Given the description of an element on the screen output the (x, y) to click on. 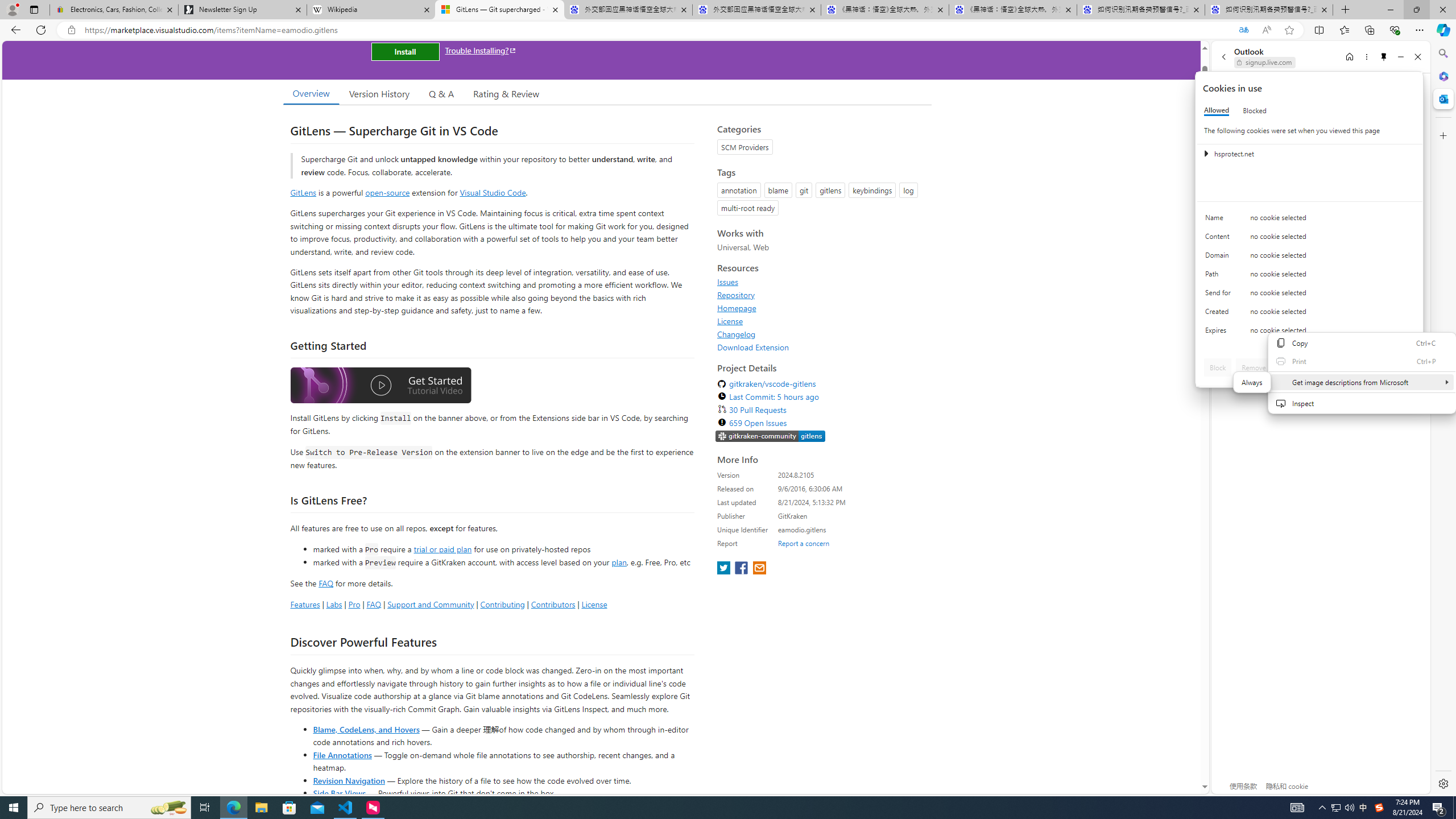
Web context (1362, 372)
Print (1362, 361)
Path (1219, 276)
Class: c0153 c0157 c0154 (1309, 220)
Class: c0153 c0157 (1309, 332)
Expires (1219, 332)
Block (1217, 367)
Get image descriptions from Microsoft (1252, 381)
Blocked (1255, 110)
Done (1399, 367)
Allowed (1216, 110)
Created (1219, 313)
Send for (1219, 295)
Inspect (1362, 402)
Name (1219, 220)
